Given the description of an element on the screen output the (x, y) to click on. 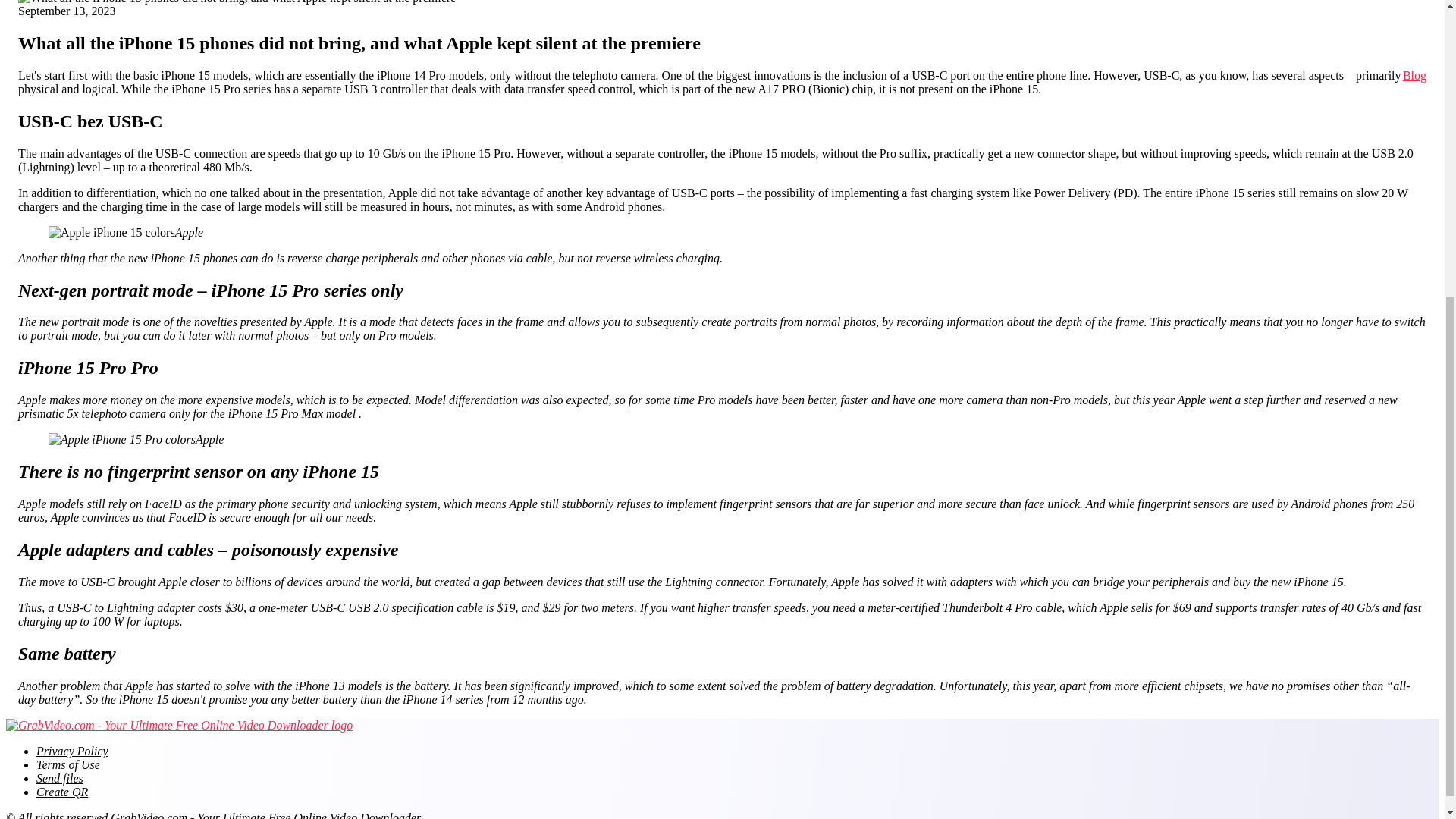
Privacy Policy (71, 750)
Terms of Use (68, 764)
Blog (1414, 75)
Create QR (61, 791)
Send files (59, 778)
